Given the description of an element on the screen output the (x, y) to click on. 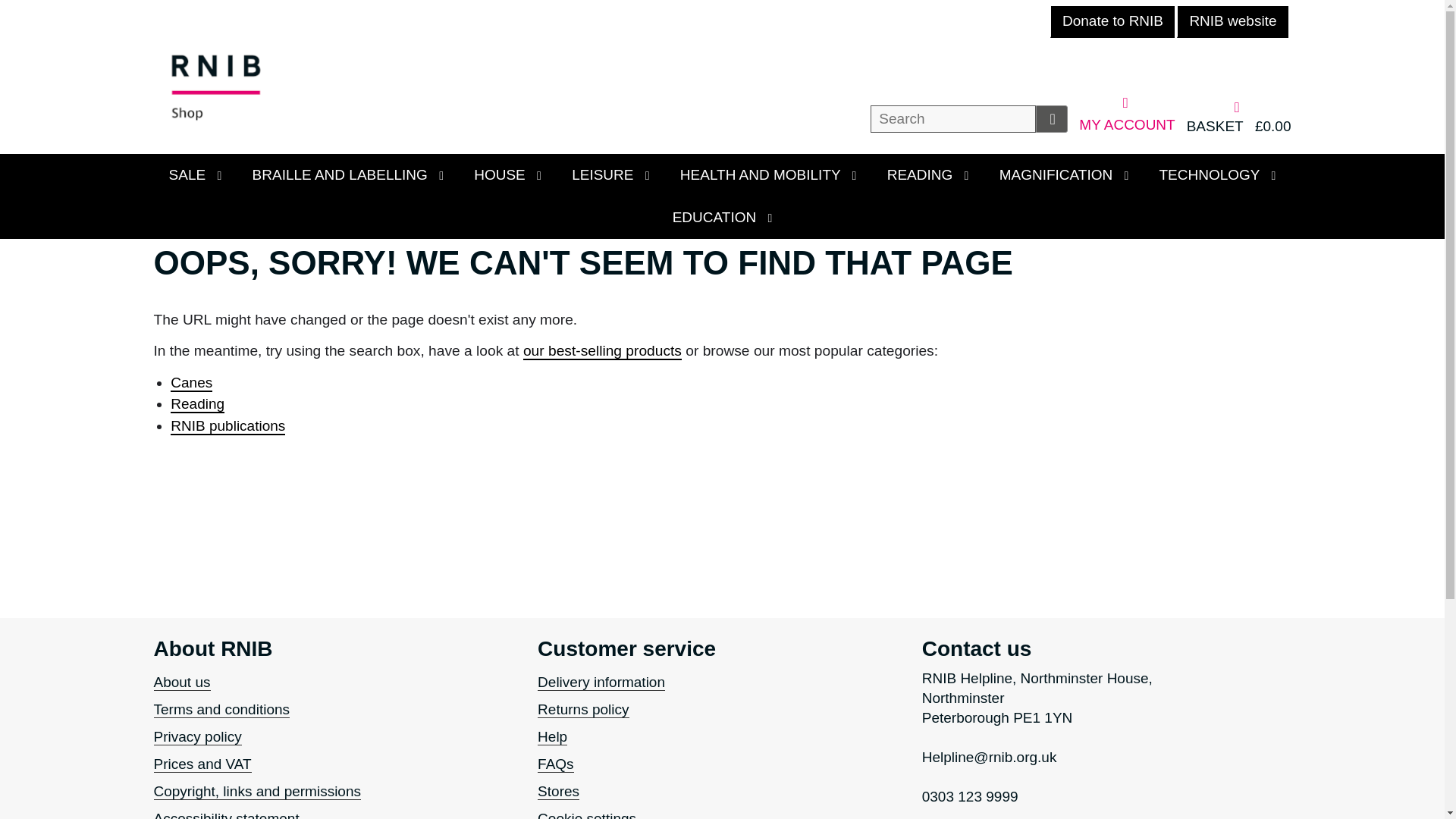
Donate to RNIB (1111, 21)
RNIB website (1231, 21)
